Given the description of an element on the screen output the (x, y) to click on. 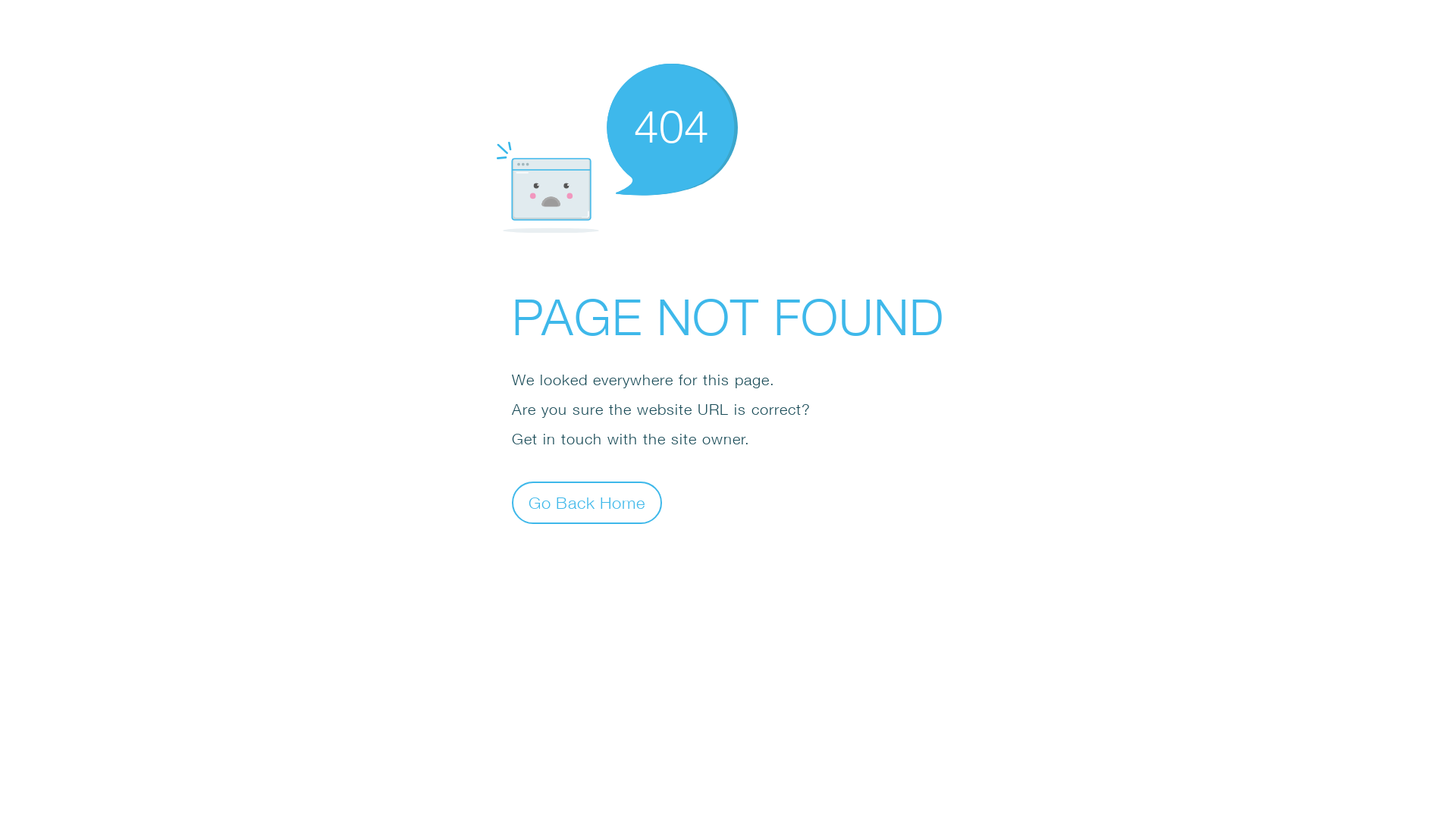
Go Back Home Element type: text (586, 502)
